Given the description of an element on the screen output the (x, y) to click on. 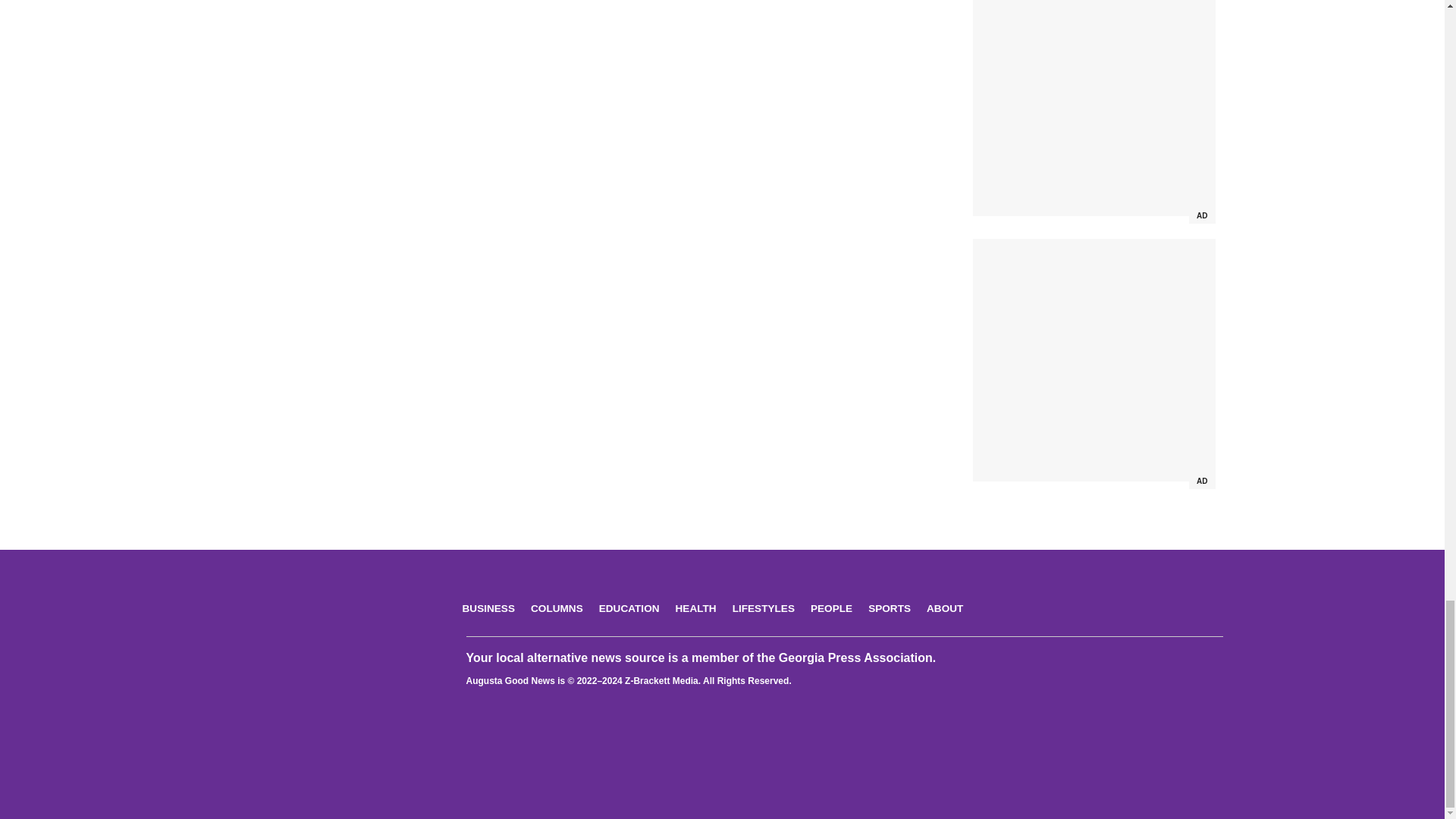
favicon-agn (722, 762)
BUSINESS (488, 608)
logo-augustagoodnews-white (312, 616)
COLUMNS (556, 608)
